Given the description of an element on the screen output the (x, y) to click on. 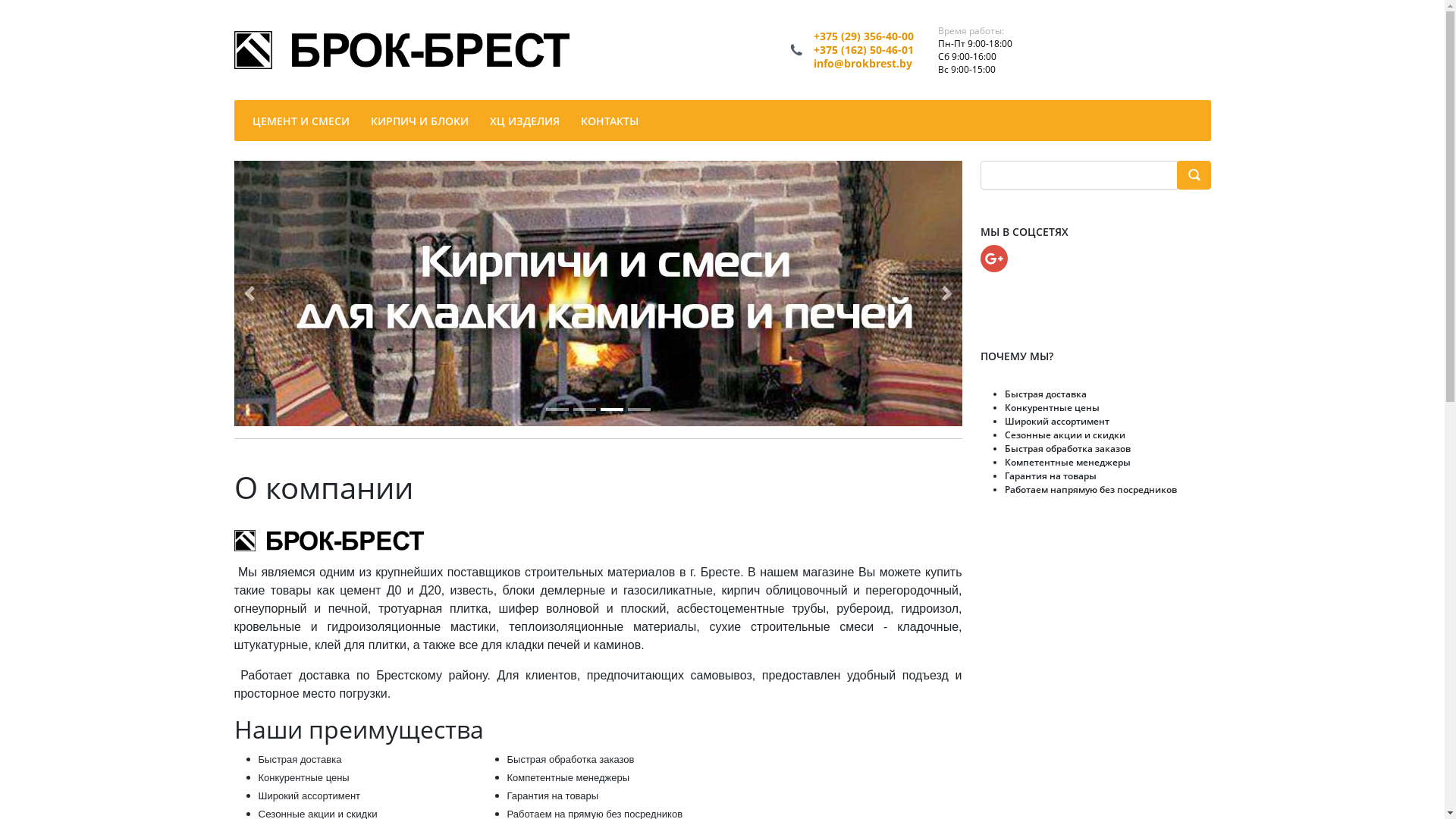
+375 (162) 50-46-01 Element type: text (863, 49)
  Element type: text (1193, 174)
info@brokbrest.by Element type: text (862, 63)
+375 (29) 356-40-00 Element type: text (863, 35)
